Given the description of an element on the screen output the (x, y) to click on. 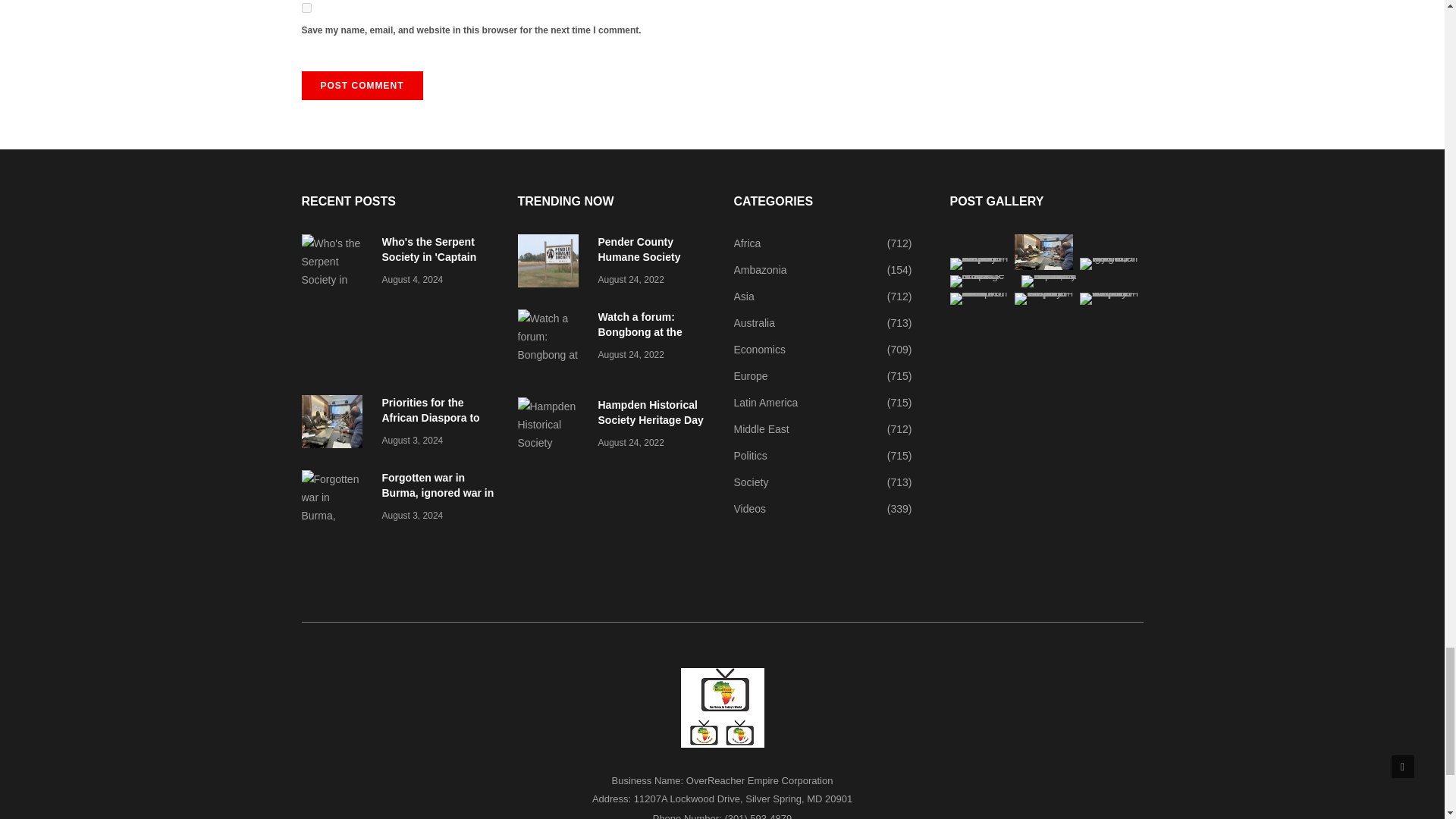
Post Comment (362, 85)
yes (306, 8)
